Given the description of an element on the screen output the (x, y) to click on. 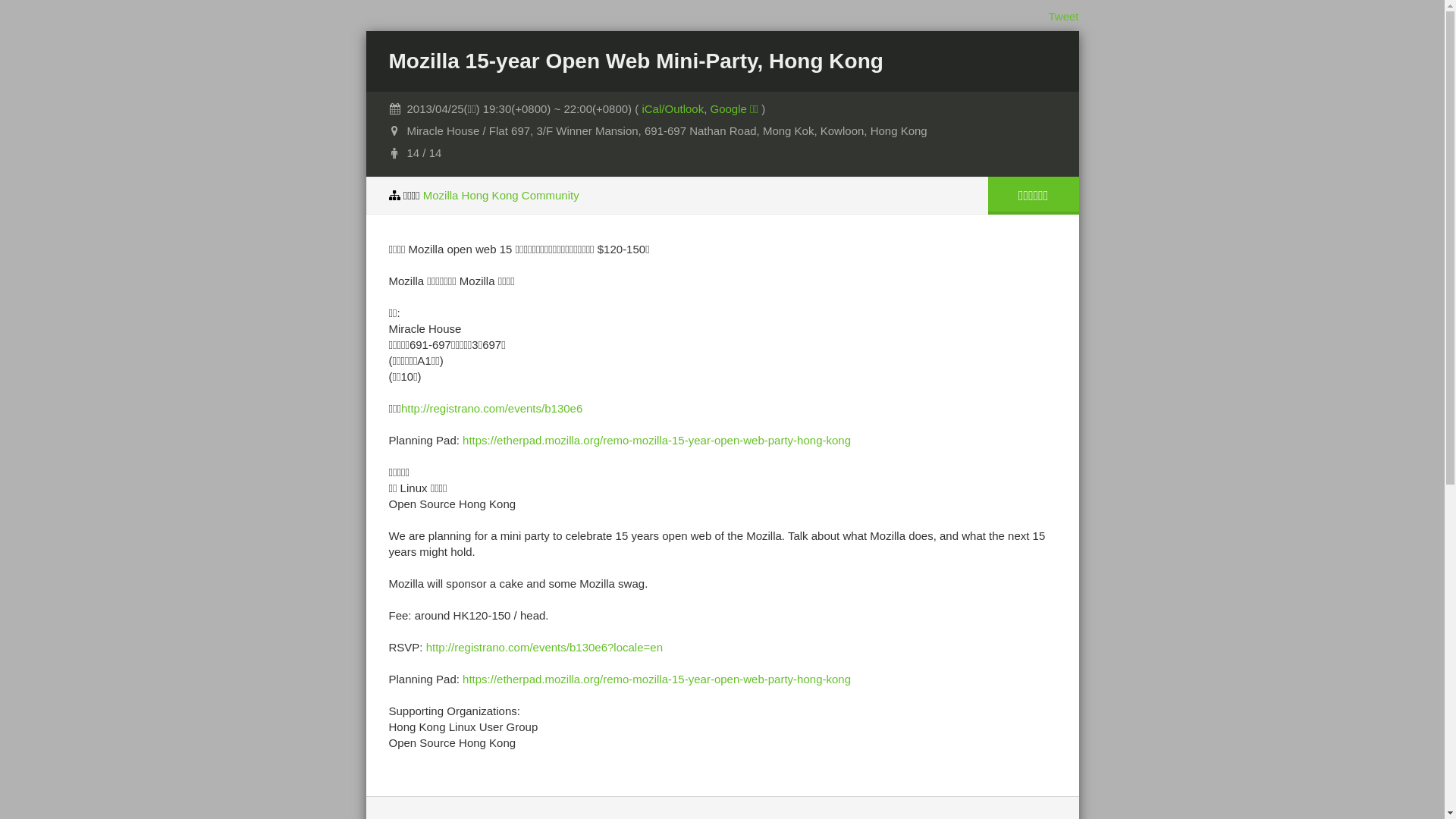
iCal/Outlook Element type: text (672, 108)
Mozilla Hong Kong Community Element type: text (501, 194)
http://registrano.com/events/b130e6?locale=en Element type: text (544, 646)
Tweet Element type: text (1063, 15)
http://registrano.com/events/b130e6 Element type: text (491, 407)
